Given the description of an element on the screen output the (x, y) to click on. 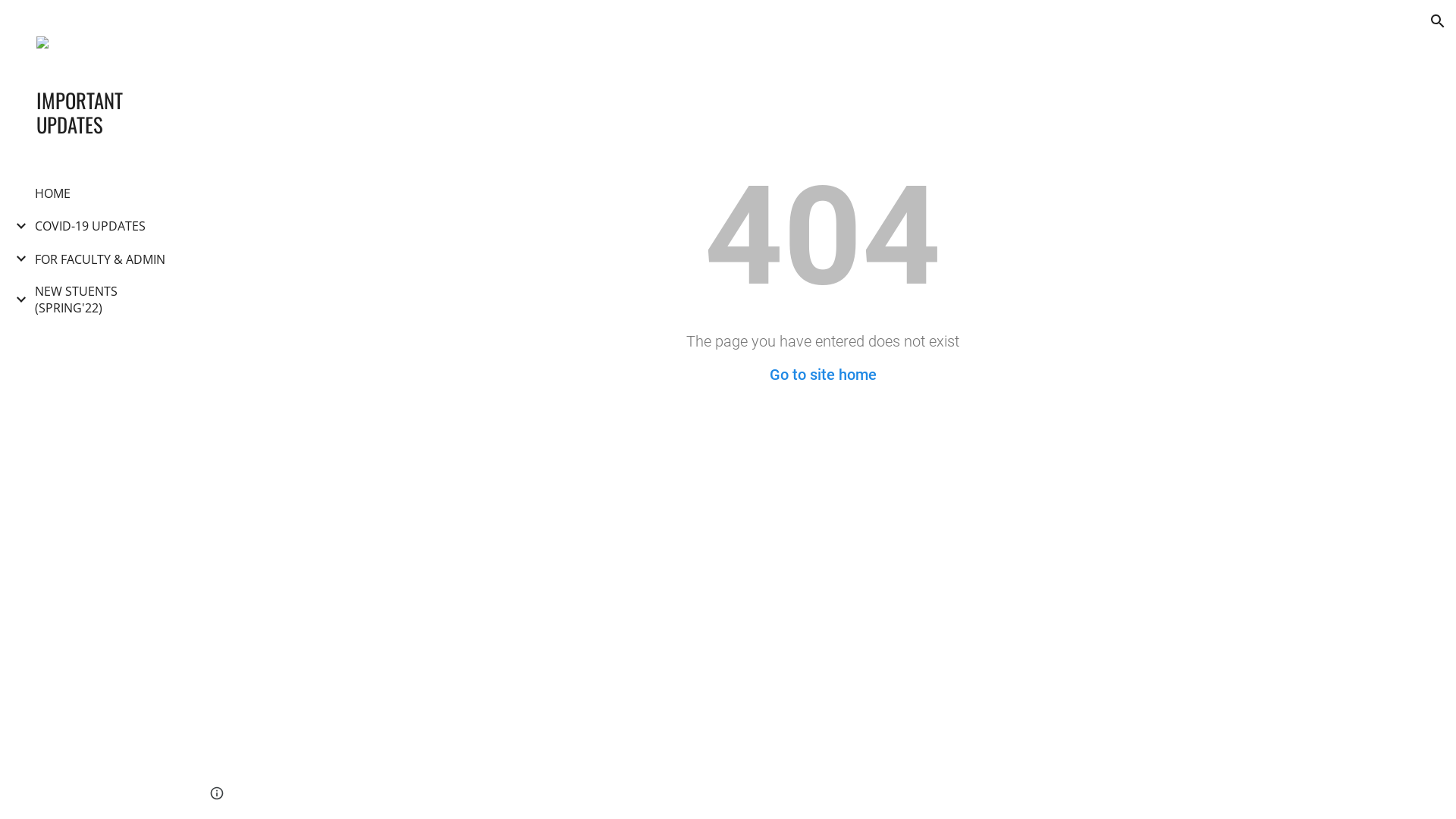
NEW STUENTS (SPRING'22) Element type: text (101, 299)
HOME Element type: text (52, 193)
Expand/Collapse Element type: hover (16, 258)
Go to site home Element type: text (821, 374)
FOR FACULTY & ADMIN Element type: text (99, 259)
Expand/Collapse Element type: hover (16, 299)
COVID-19 UPDATES Element type: text (90, 225)
Expand/Collapse Element type: hover (16, 225)
IMPORTANT UPDATES Element type: text (100, 111)
